Given the description of an element on the screen output the (x, y) to click on. 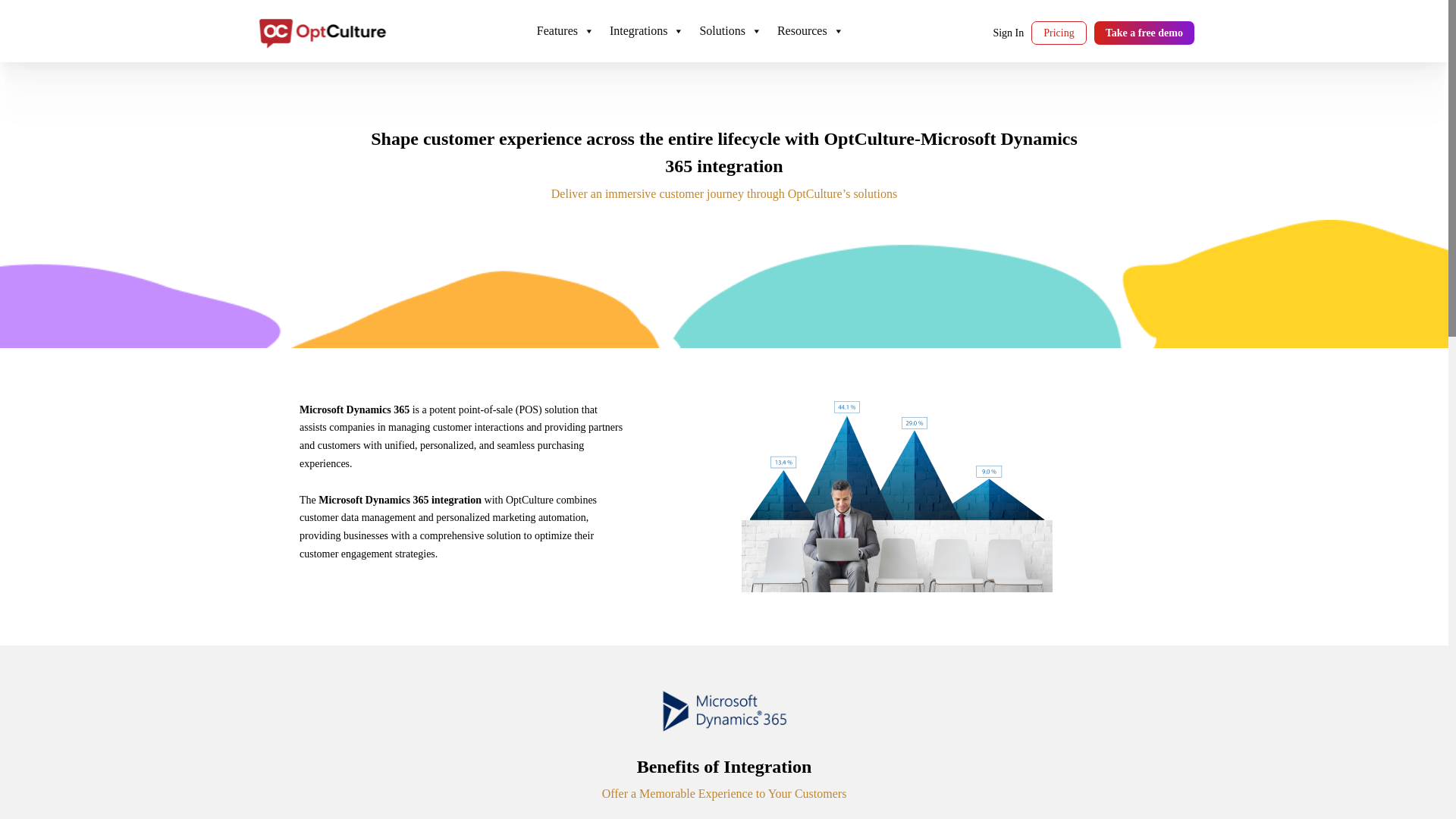
Features (565, 30)
Integrations (646, 30)
lgjsYhG3ss (729, 30)
T4Ey0SRUMd (646, 30)
MnEimqcVb8 (565, 30)
